Given the description of an element on the screen output the (x, y) to click on. 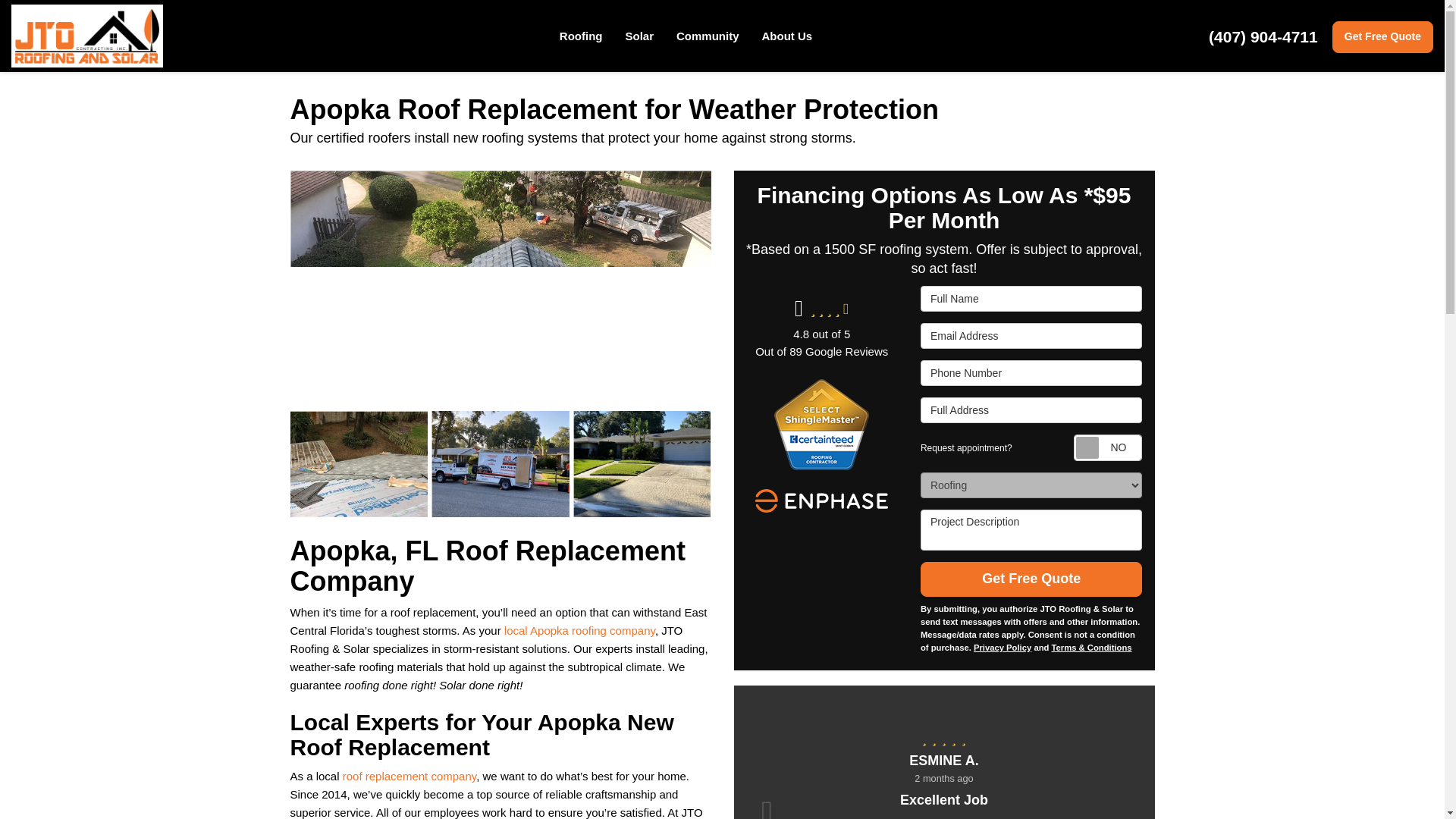
Community (708, 36)
Get Free Quote (1382, 37)
Get Free Quote (1382, 37)
Roofing (581, 36)
About Us (787, 36)
5 Stars (943, 736)
